Given the description of an element on the screen output the (x, y) to click on. 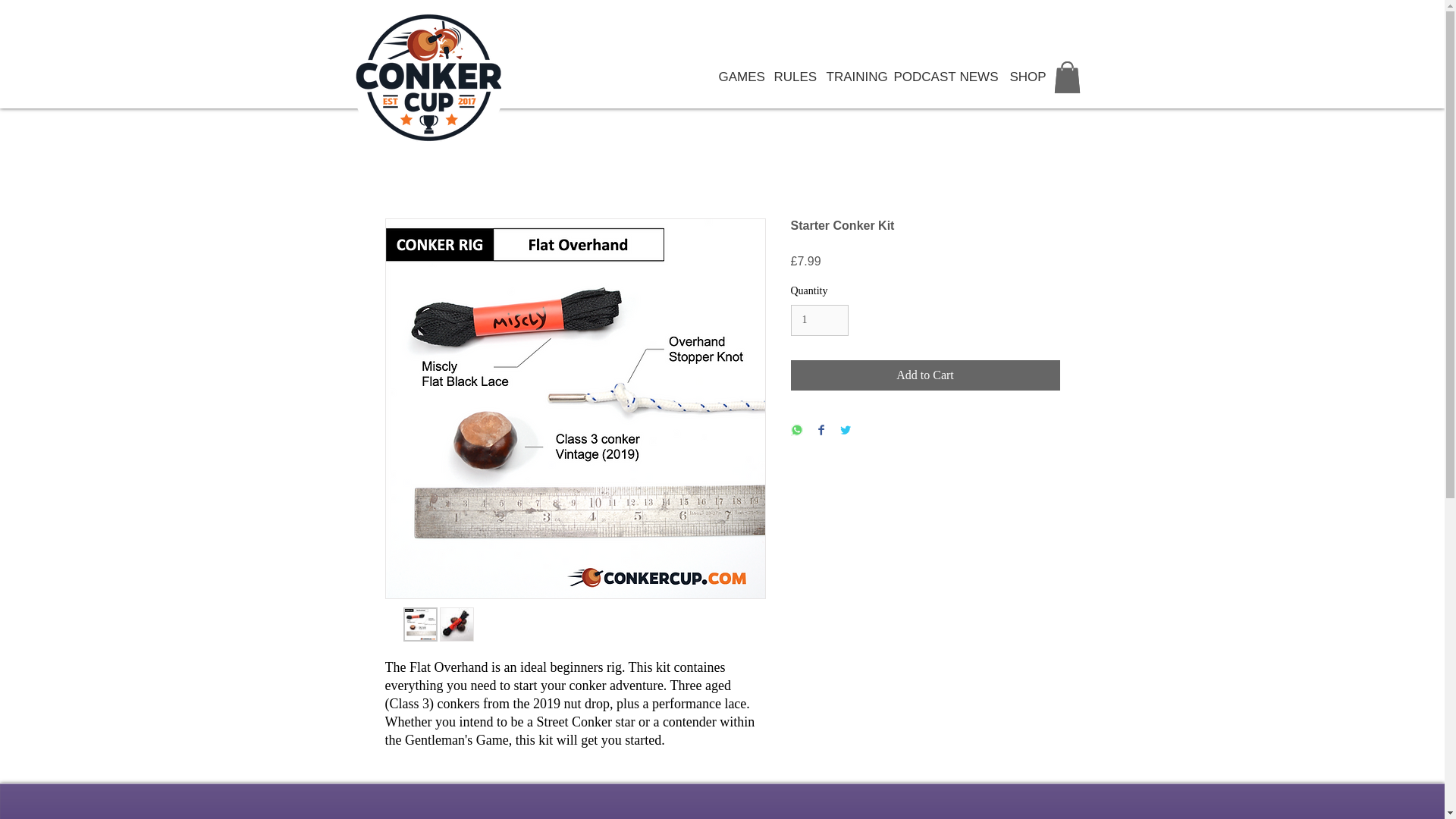
RULES (788, 77)
PODCAST (915, 77)
TRAINING (847, 77)
GAMES (733, 77)
NEWS (972, 77)
SHOP (1021, 77)
Add to Cart (924, 375)
1 (818, 319)
